Given the description of an element on the screen output the (x, y) to click on. 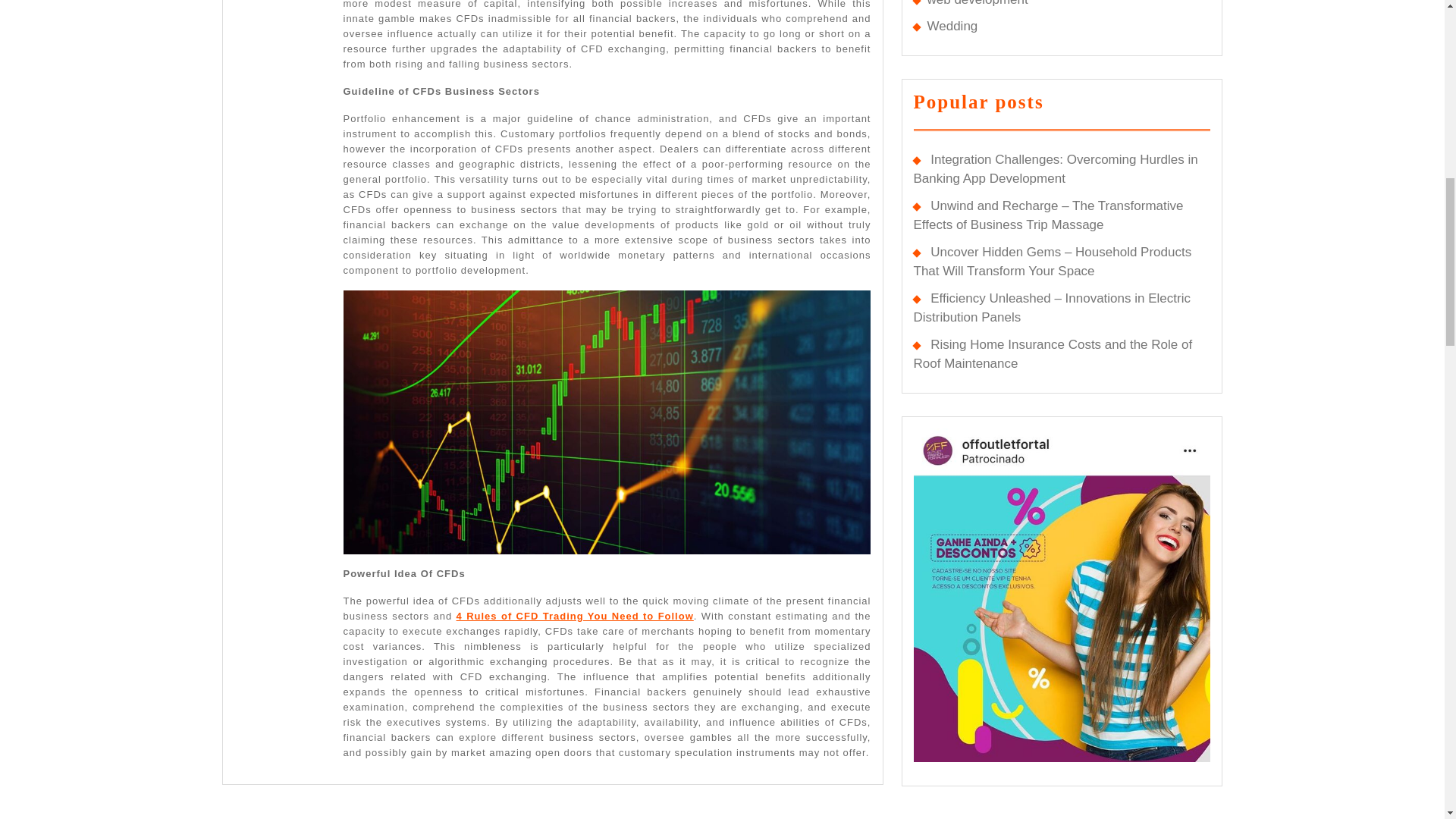
4 Rules of CFD Trading You Need to Follow (655, 60)
